Given the description of an element on the screen output the (x, y) to click on. 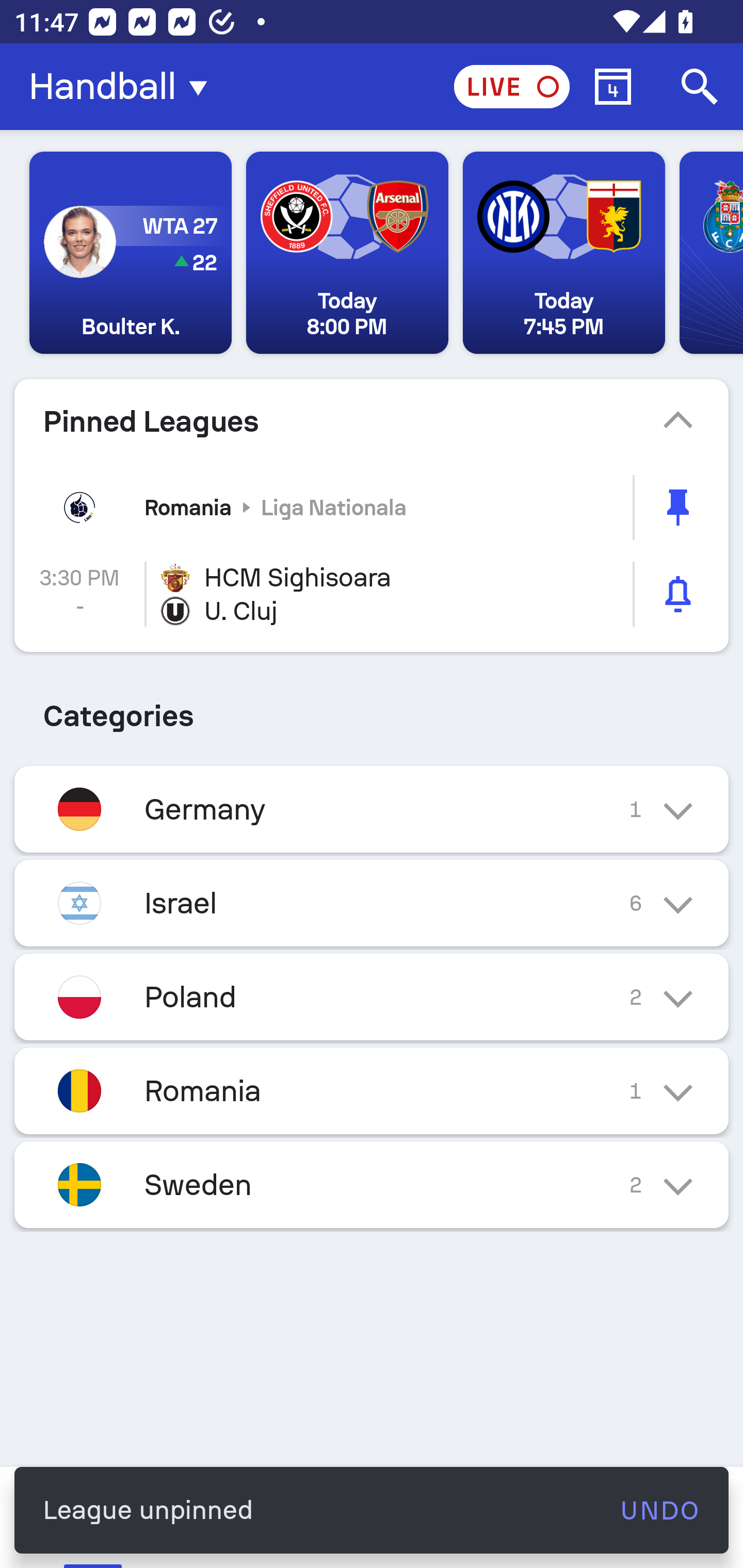
Handball (124, 86)
Calendar (612, 86)
Search (699, 86)
WTA 27 22 Boulter K. (130, 253)
Today
8:00 PM (346, 253)
Today
7:45 PM (563, 253)
Pinned Leagues (371, 421)
Romania Liga Nationala (371, 507)
3:30 PM - HCM Sighisoara U. Cluj (371, 594)
Categories (371, 708)
Germany 1 (371, 808)
Israel 6 (371, 903)
Poland 2 (371, 996)
Romania 1 (371, 1090)
Sweden 2 (371, 1184)
UNDO (659, 1510)
